Given the description of an element on the screen output the (x, y) to click on. 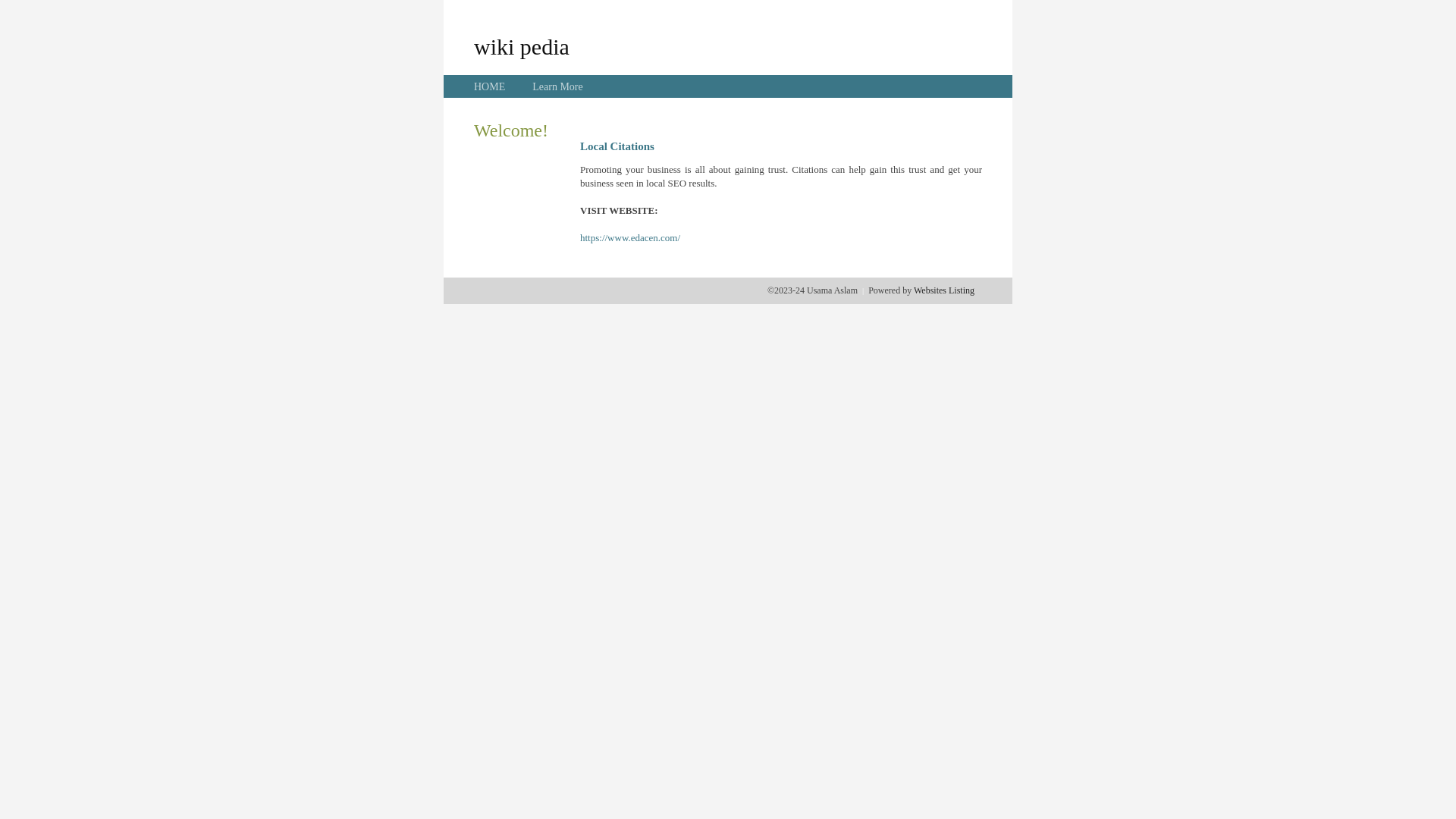
Websites Listing Element type: text (943, 290)
wiki pedia Element type: text (521, 46)
HOME Element type: text (489, 86)
https://www.edacen.com/ Element type: text (630, 237)
Learn More Element type: text (557, 86)
